Given the description of an element on the screen output the (x, y) to click on. 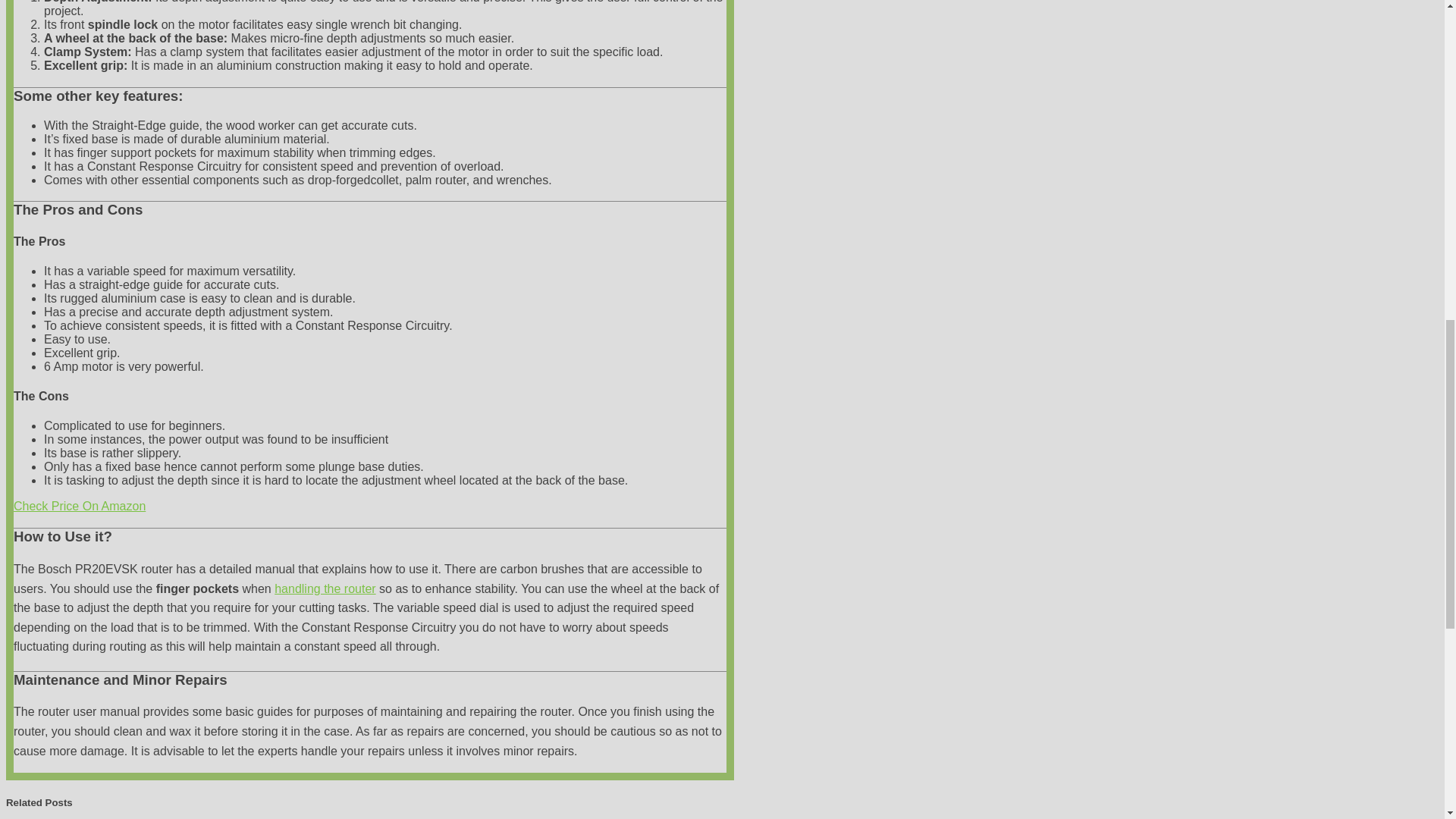
handling the router (325, 588)
Check Price On Amazon (79, 505)
